Given the description of an element on the screen output the (x, y) to click on. 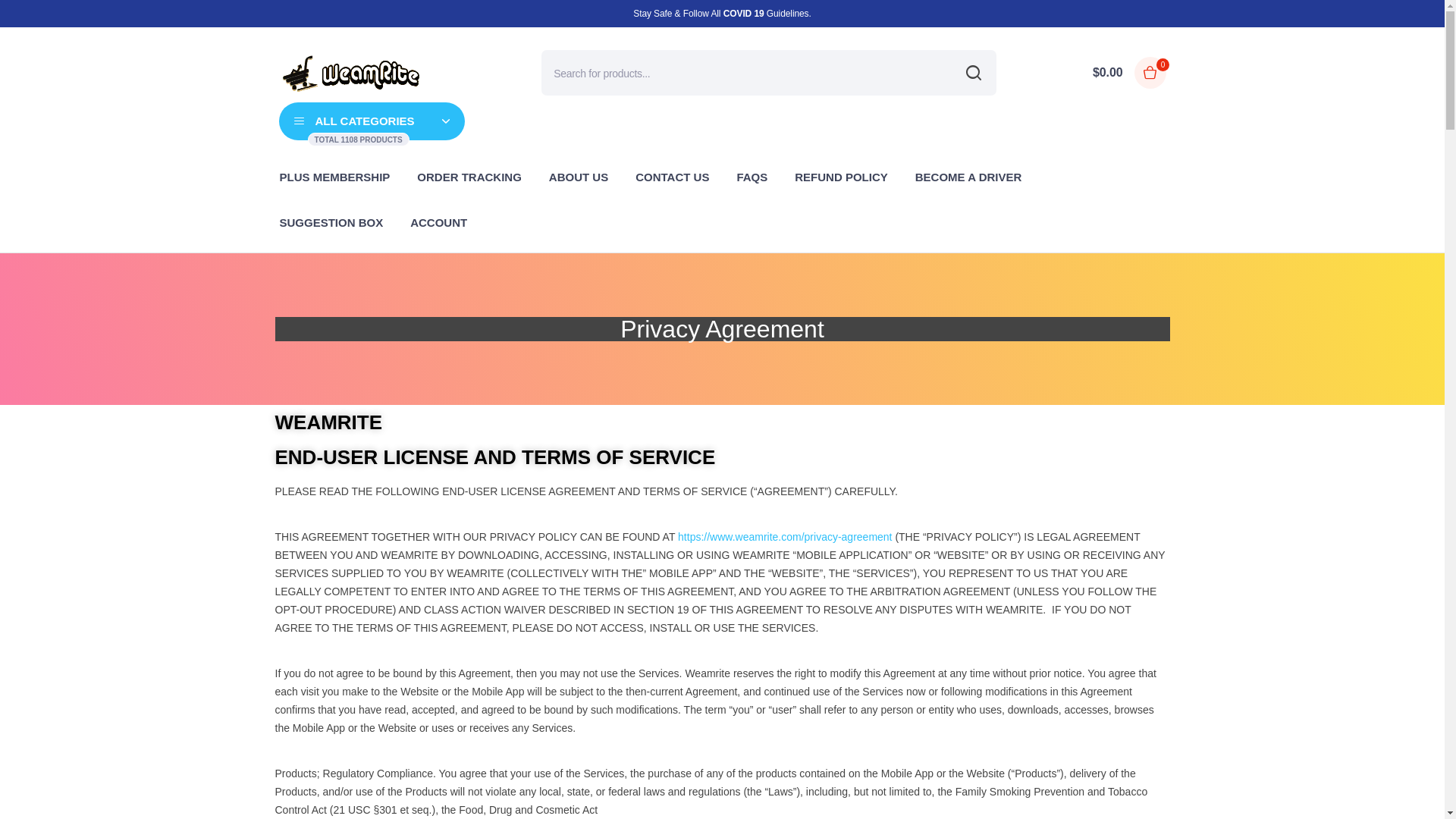
WeamRite (351, 73)
